Given the description of an element on the screen output the (x, y) to click on. 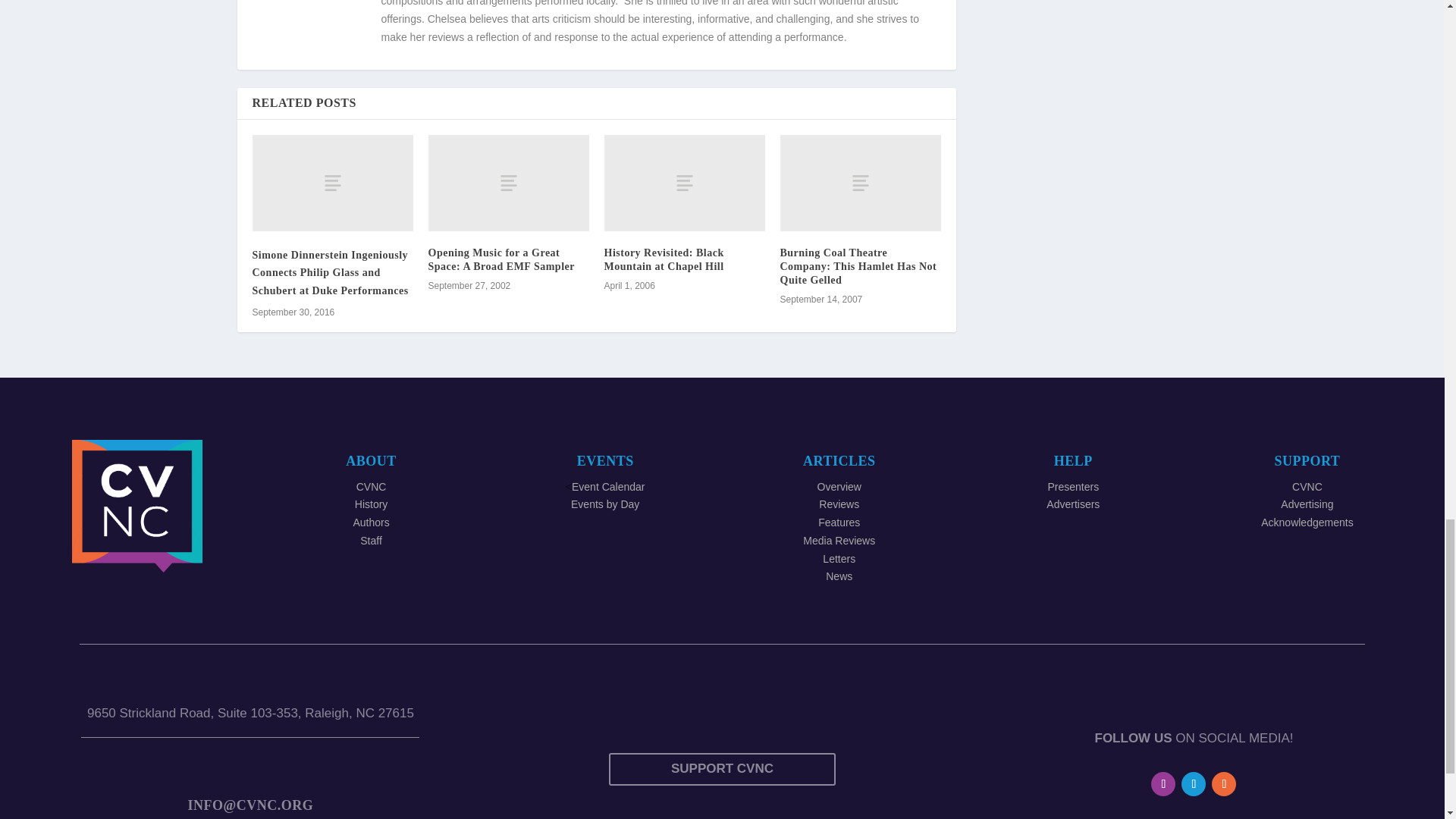
Opening Music for a Great Space: A Broad EMF Sampler (508, 182)
